Given the description of an element on the screen output the (x, y) to click on. 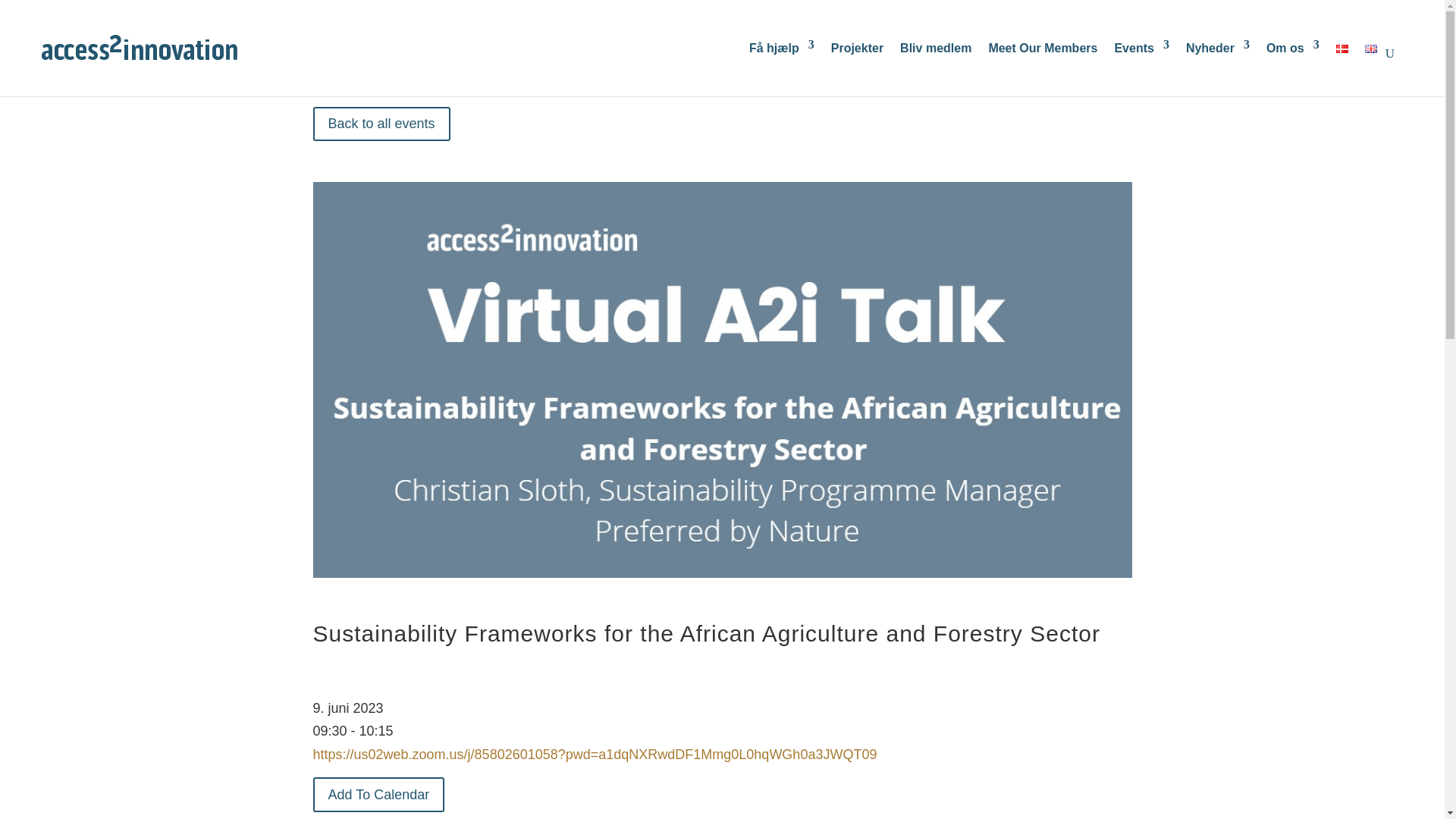
Bliv medlem (935, 45)
Projekter (857, 45)
Meet Our Members (1042, 45)
Nyheder (1217, 45)
Om os (1292, 45)
Events (1141, 45)
